Given the description of an element on the screen output the (x, y) to click on. 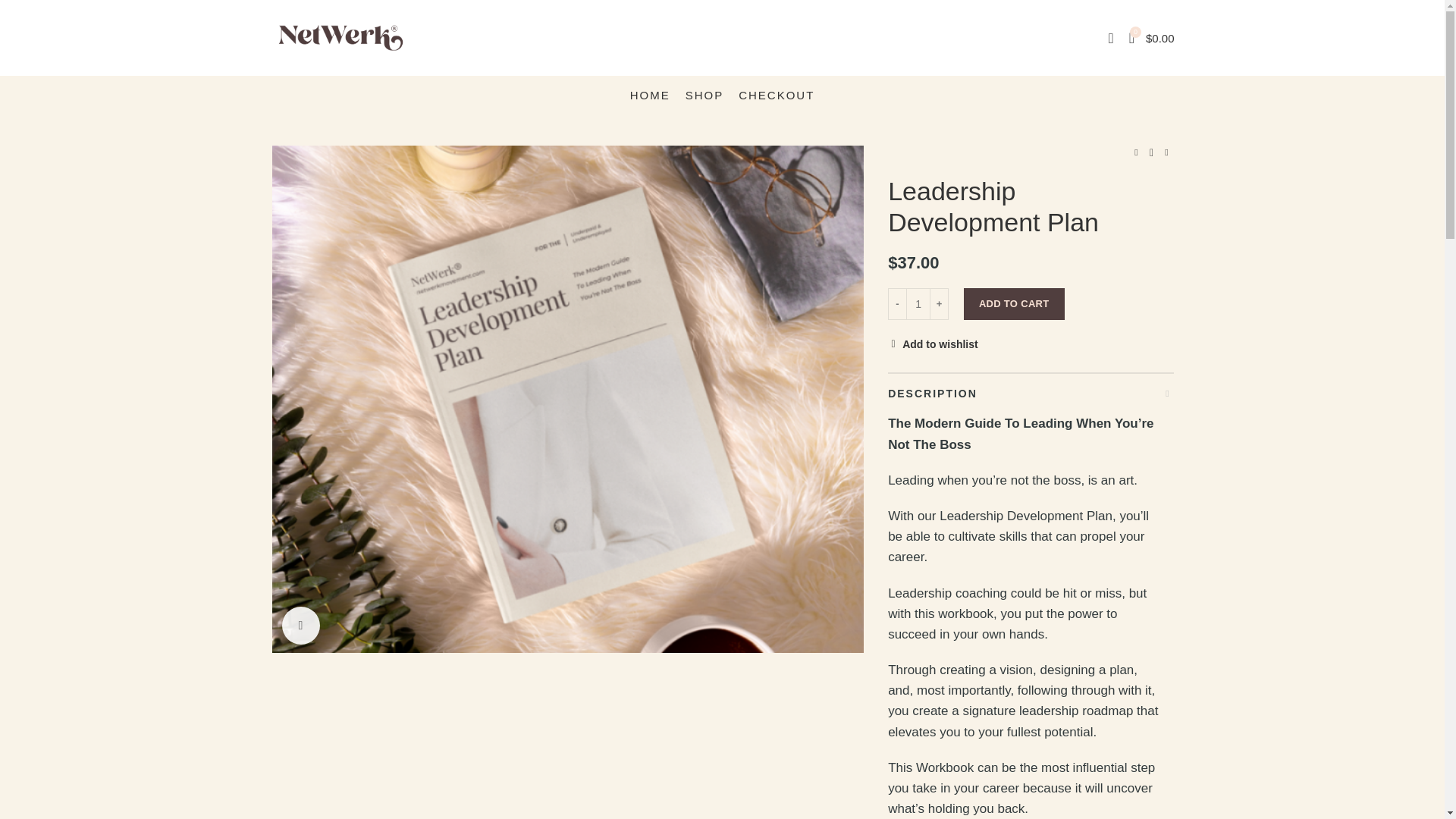
HOME (650, 95)
SHOP (705, 95)
Shopping cart (1151, 37)
CHECKOUT (776, 95)
